Given the description of an element on the screen output the (x, y) to click on. 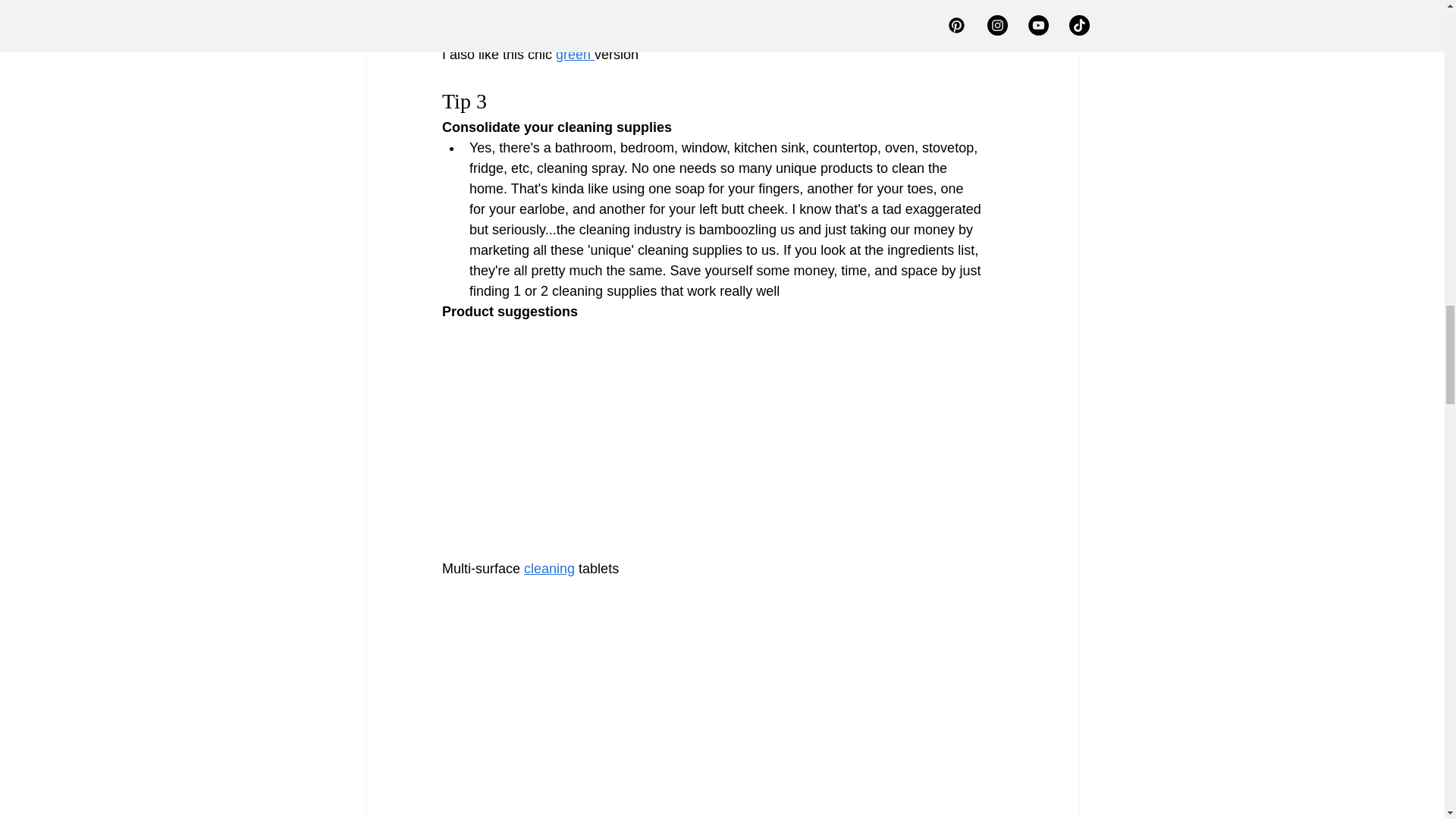
cleaning (549, 568)
green  (575, 54)
